Given the description of an element on the screen output the (x, y) to click on. 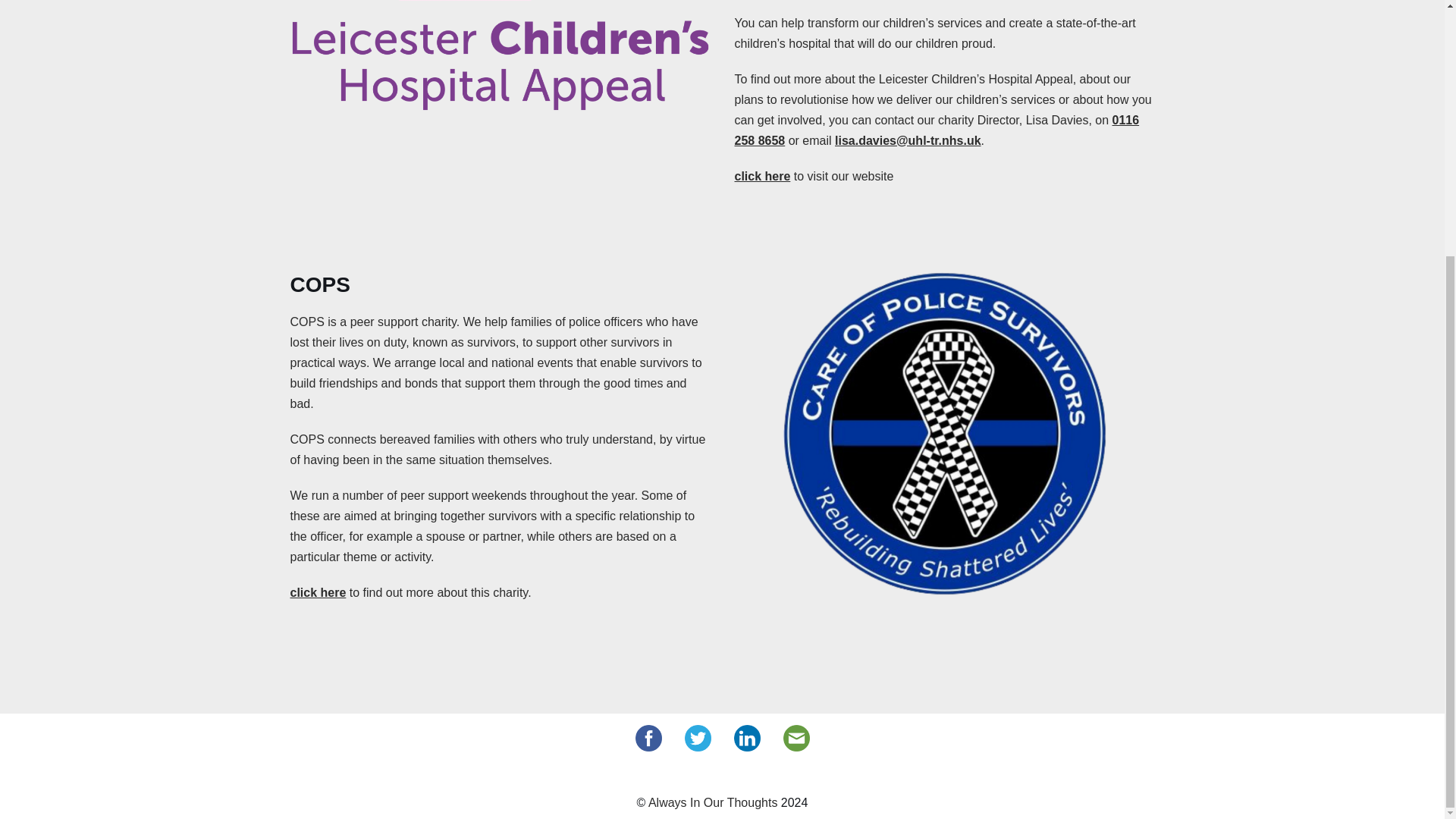
Email (796, 734)
click here (761, 175)
LinkedIn (746, 734)
Always In Our Thoughts (712, 802)
Facebook (647, 734)
0116 258 8658 (935, 130)
click here (317, 592)
Twitter (697, 734)
